Given the description of an element on the screen output the (x, y) to click on. 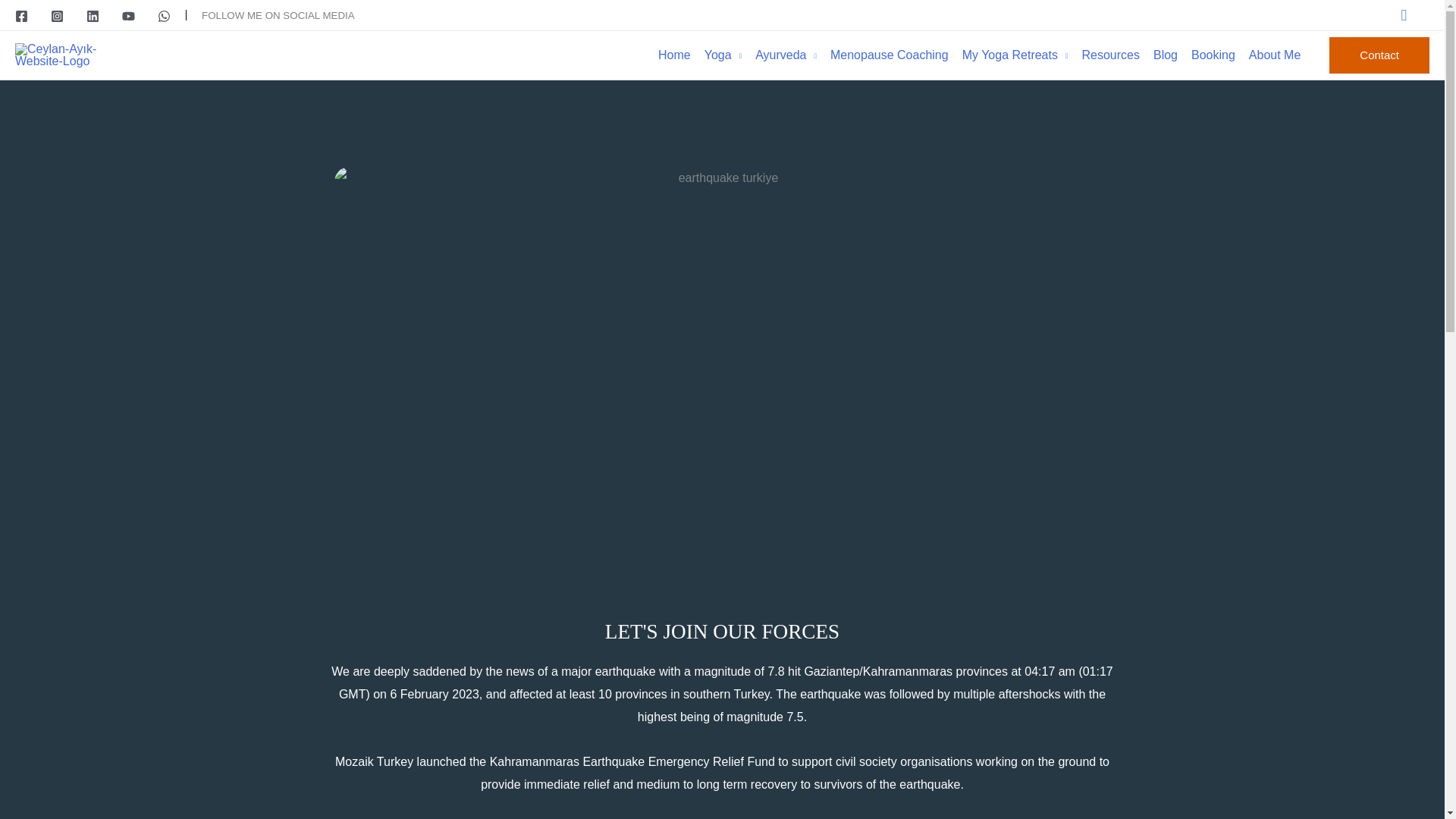
My Yoga Retreats (1021, 55)
Home (681, 55)
About Me (1281, 55)
Yoga (729, 55)
Booking (1220, 55)
Menopause Coaching (895, 55)
Ayurveda (792, 55)
Contact (1379, 54)
Resources (1117, 55)
Blog (1172, 55)
